Given the description of an element on the screen output the (x, y) to click on. 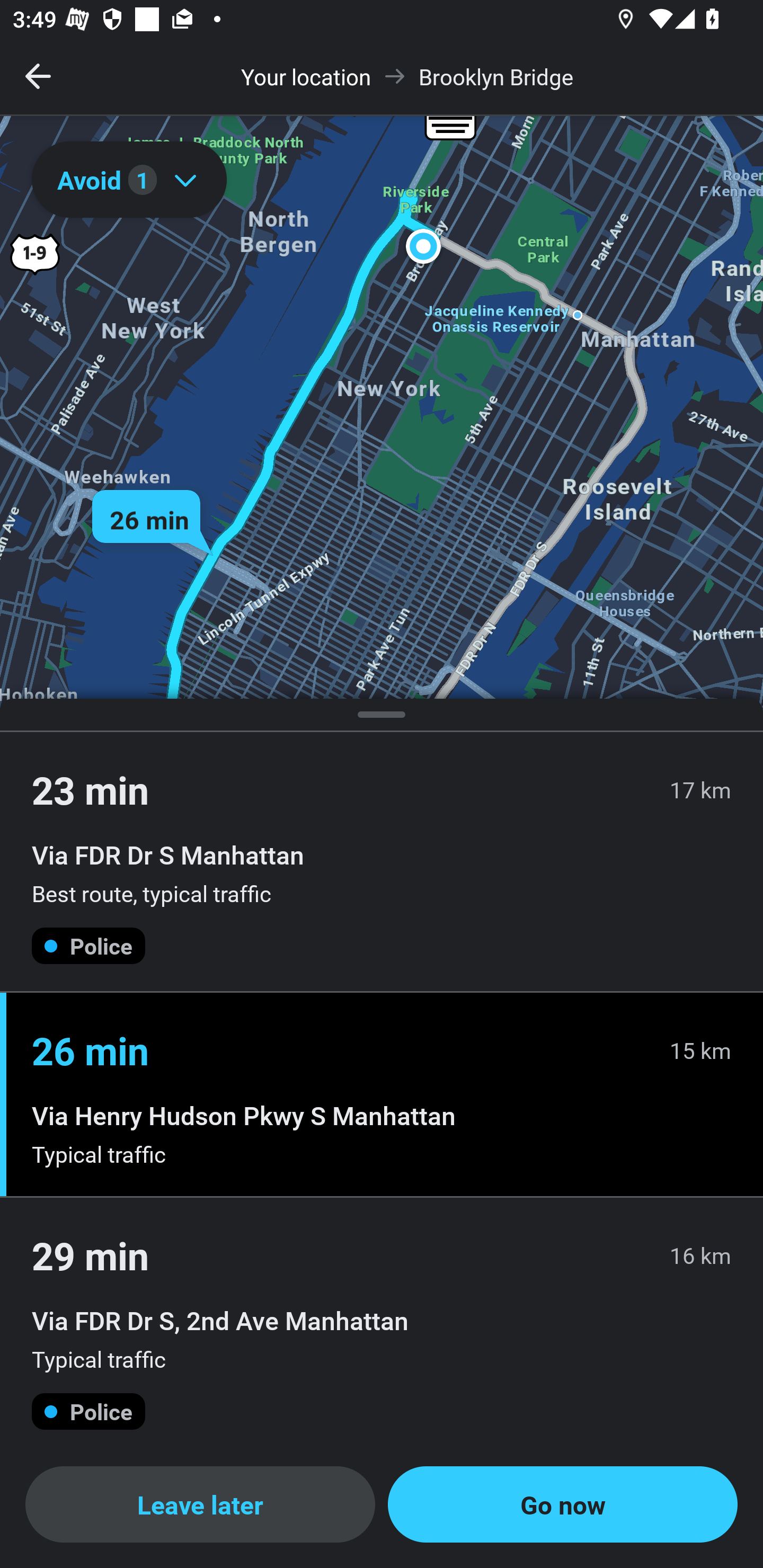
Leave later (200, 1504)
Go now (562, 1504)
